Given the description of an element on the screen output the (x, y) to click on. 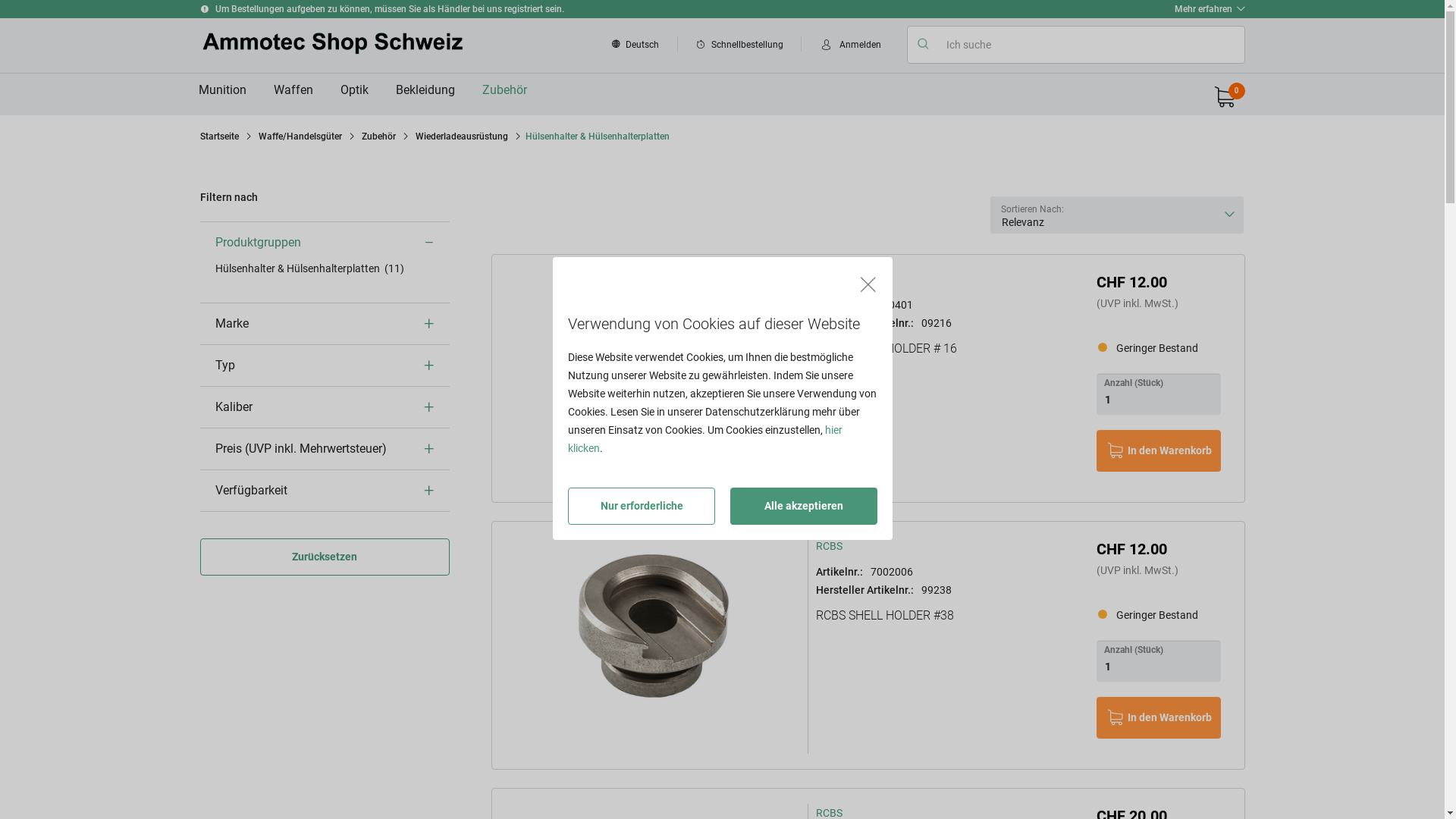
hier klicken Element type: text (704, 438)
RCBS SHELL HOLDER #38 Element type: hover (653, 627)
Munition Element type: text (222, 90)
RCBS SHELL HOLDER # 16 Element type: hover (653, 360)
Deutsch Element type: text (638, 44)
RCBS SHELL HOLDER #38 Element type: hover (653, 626)
Waffen Element type: text (292, 90)
Schnellbestellung Element type: text (739, 45)
Startseite Element type: text (219, 136)
RCBS SHELL HOLDER #38 Element type: text (947, 625)
Alle akzeptieren Element type: text (803, 505)
RCBS SHELL HOLDER # 16 Element type: text (947, 358)
Relevanz Element type: text (1116, 214)
Optik Element type: text (353, 90)
Anmelden Element type: text (849, 45)
RCBS SHELL HOLDER # 16 Element type: hover (653, 359)
Nur erforderliche Element type: text (641, 505)
In den Warenkorb Element type: text (1158, 717)
Bekleidung Element type: text (425, 90)
In den Warenkorb Element type: text (1158, 450)
